Given the description of an element on the screen output the (x, y) to click on. 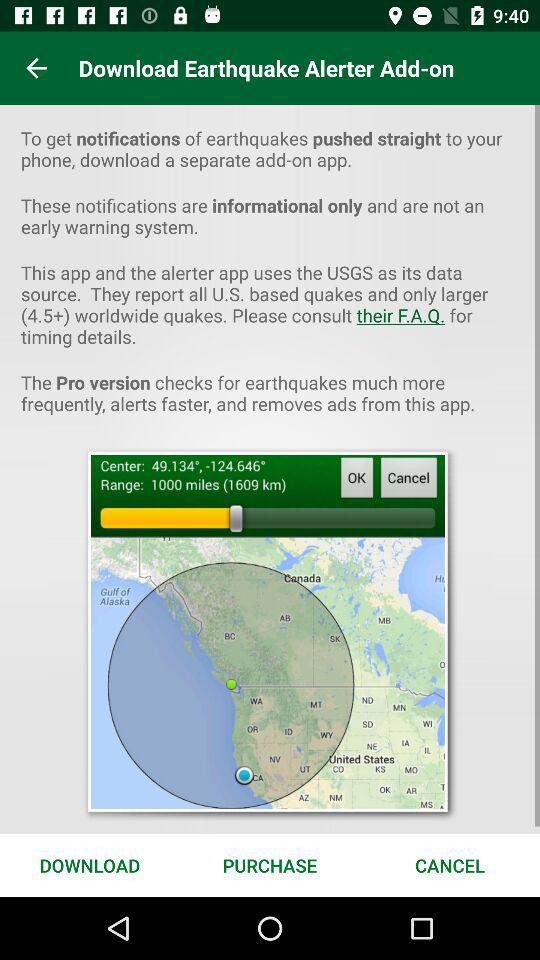
flip to the purchase (270, 864)
